Given the description of an element on the screen output the (x, y) to click on. 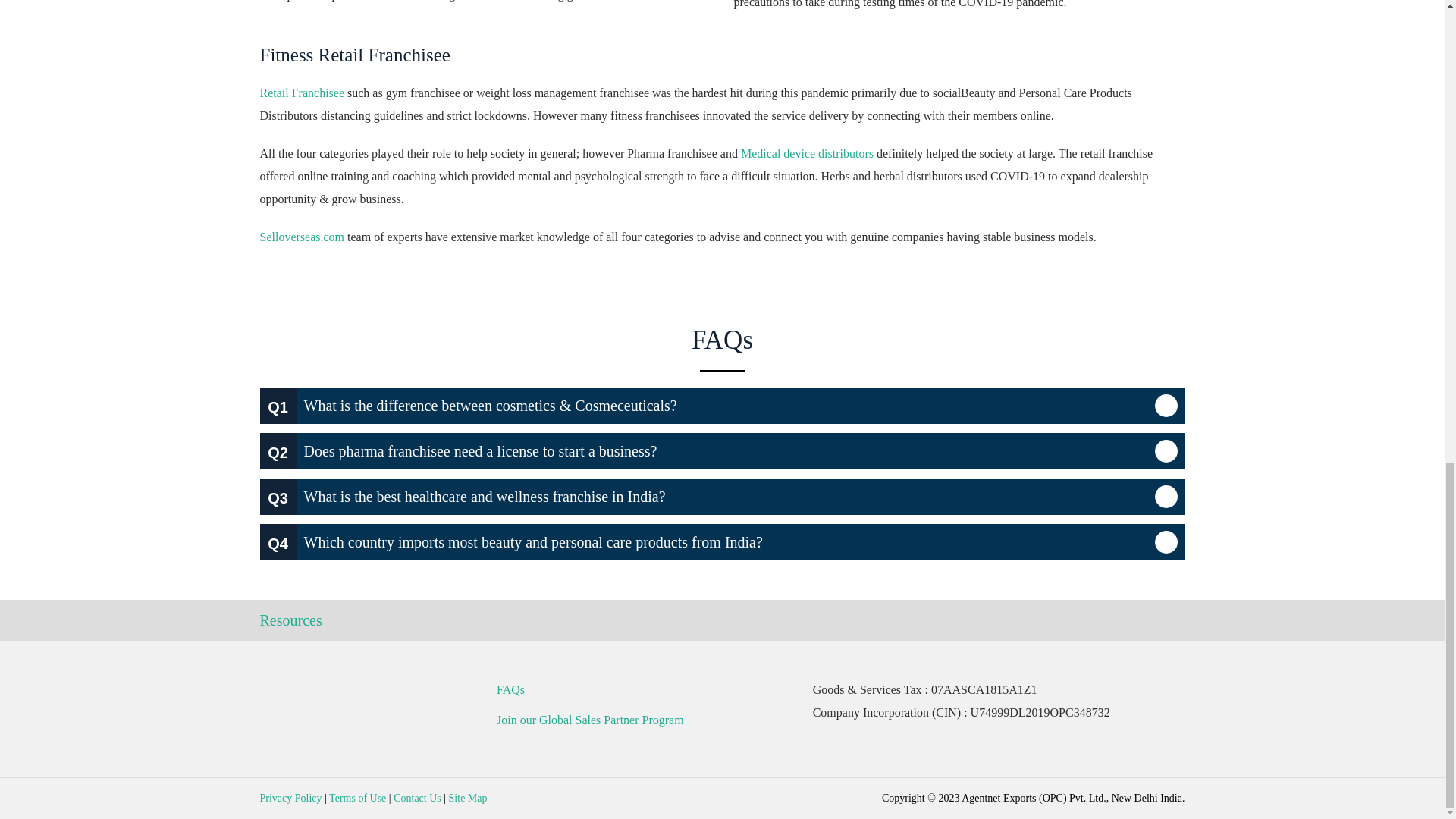
FAQs (722, 348)
Retail Franchisee (301, 92)
Selloverseas.com (301, 236)
Medical device distributors (807, 153)
